Given the description of an element on the screen output the (x, y) to click on. 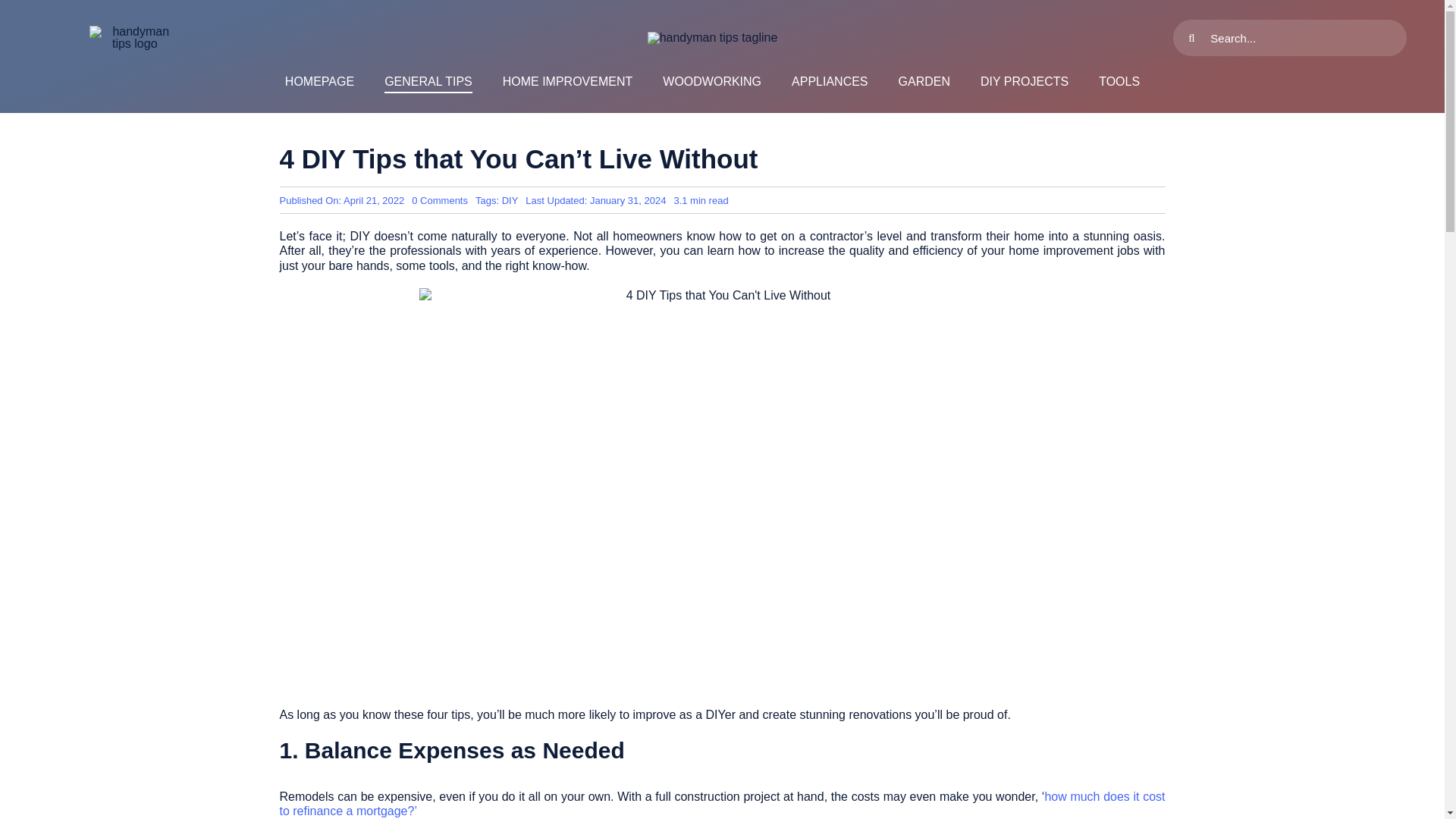
TOOLS (1119, 82)
HOME IMPROVEMENT (567, 82)
DIY (510, 200)
APPLIANCES (829, 82)
WOODWORKING (711, 82)
HOMEPAGE (319, 82)
handyman tips text (712, 37)
GARDEN (924, 82)
DIY PROJECTS (1023, 82)
GENERAL TIPS (427, 82)
